Given the description of an element on the screen output the (x, y) to click on. 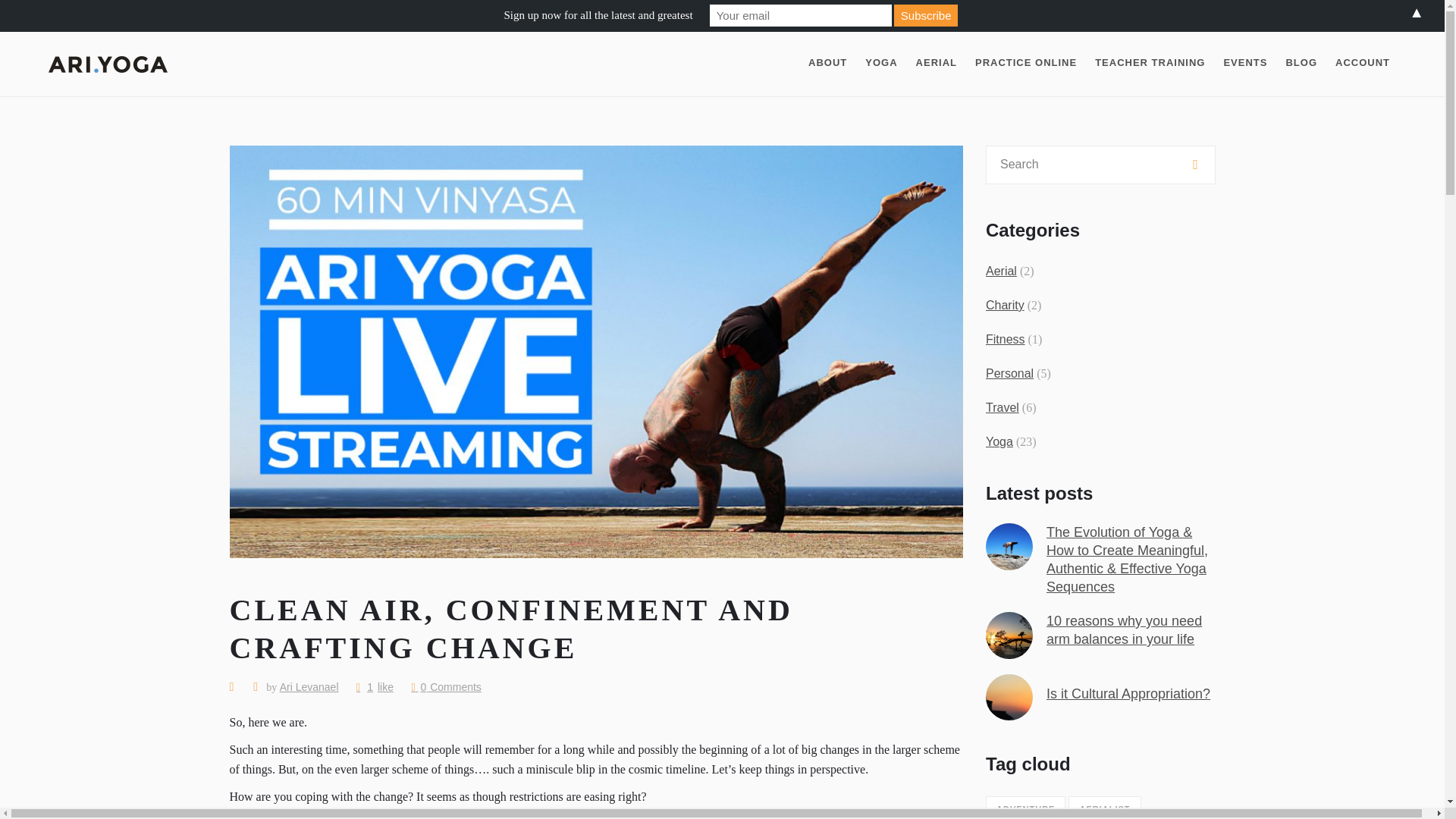
ACCOUNT (1362, 62)
TEACHER TRAINING (1150, 62)
1like (374, 686)
Ari Levanael (309, 686)
PRACTICE ONLINE (1026, 62)
AERIAL (936, 62)
EVENTS (1245, 62)
ABOUT (827, 62)
0 Comments (445, 686)
Like this (374, 686)
Subscribe (925, 15)
